Given the description of an element on the screen output the (x, y) to click on. 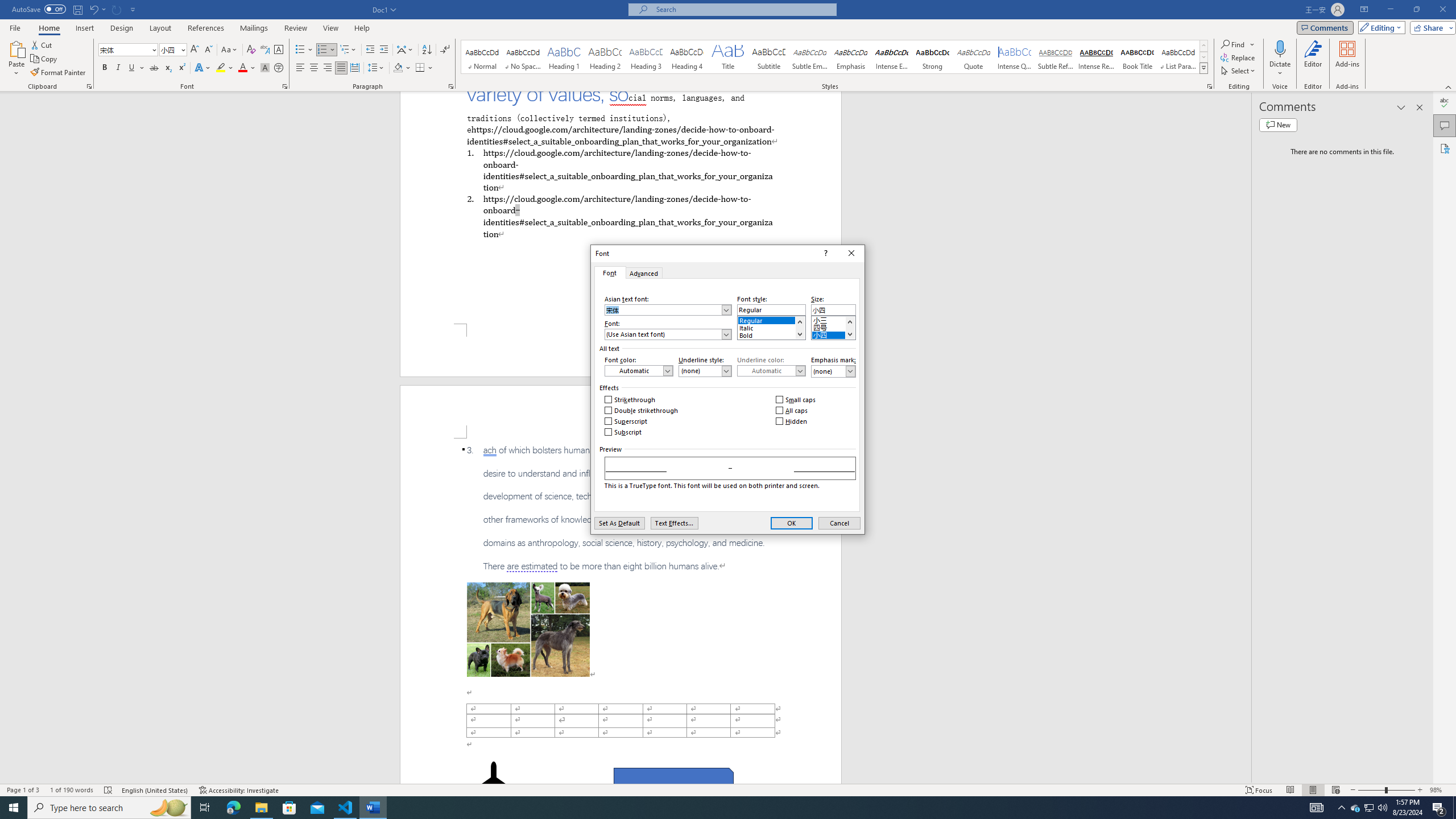
Word - 1 running window (373, 807)
Editing (1379, 27)
Paste (16, 48)
Heading 2 (605, 56)
Font Color Automatic (241, 67)
Notification Chevron (1341, 807)
Intense Reference (1095, 56)
OK (791, 522)
Layout (160, 28)
Numbering (322, 49)
Ribbon Display Options (1364, 9)
File Tab (15, 27)
Can't Repeat (117, 9)
